Given the description of an element on the screen output the (x, y) to click on. 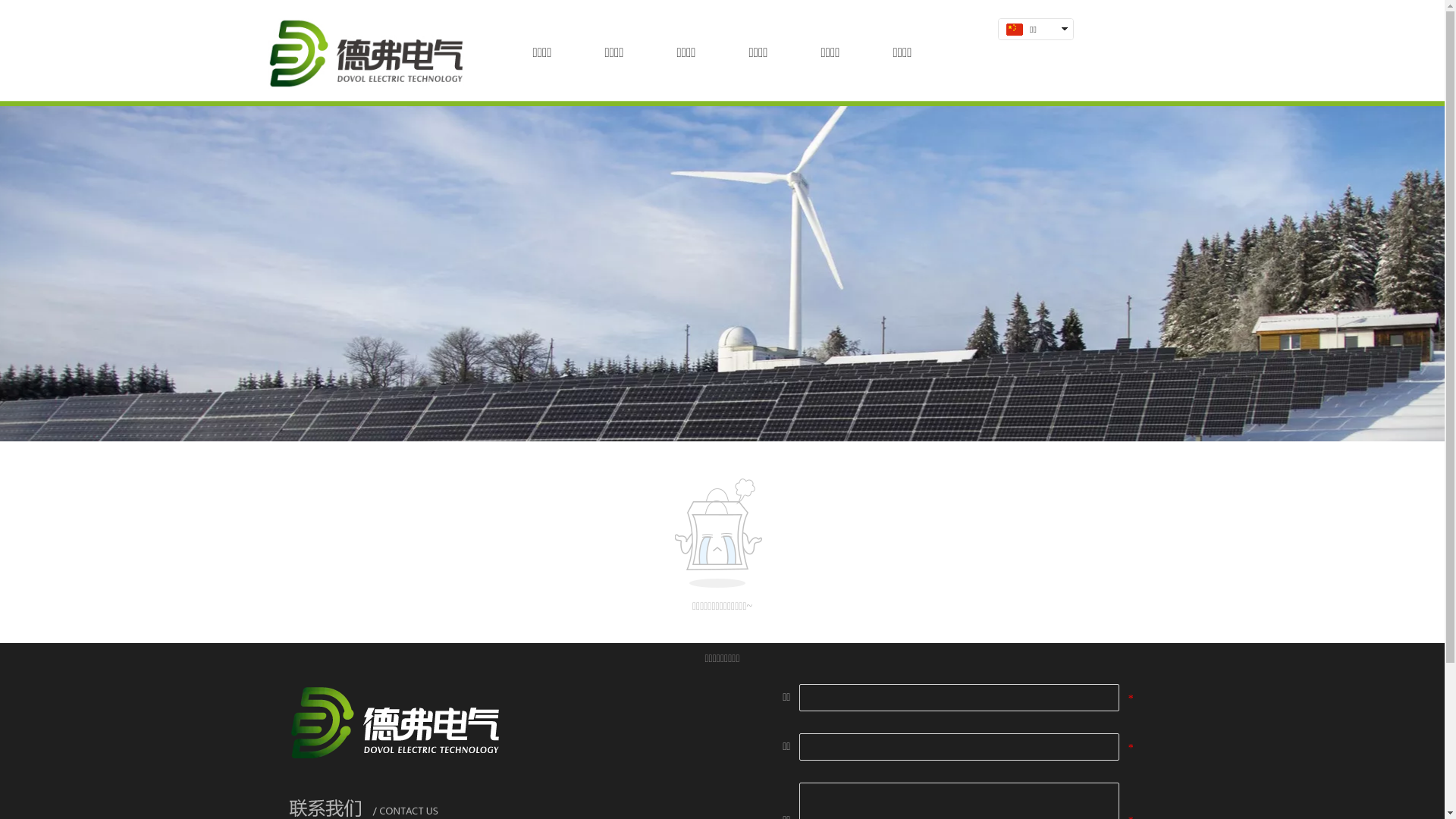
  Element type: text (1031, 49)
